Given the description of an element on the screen output the (x, y) to click on. 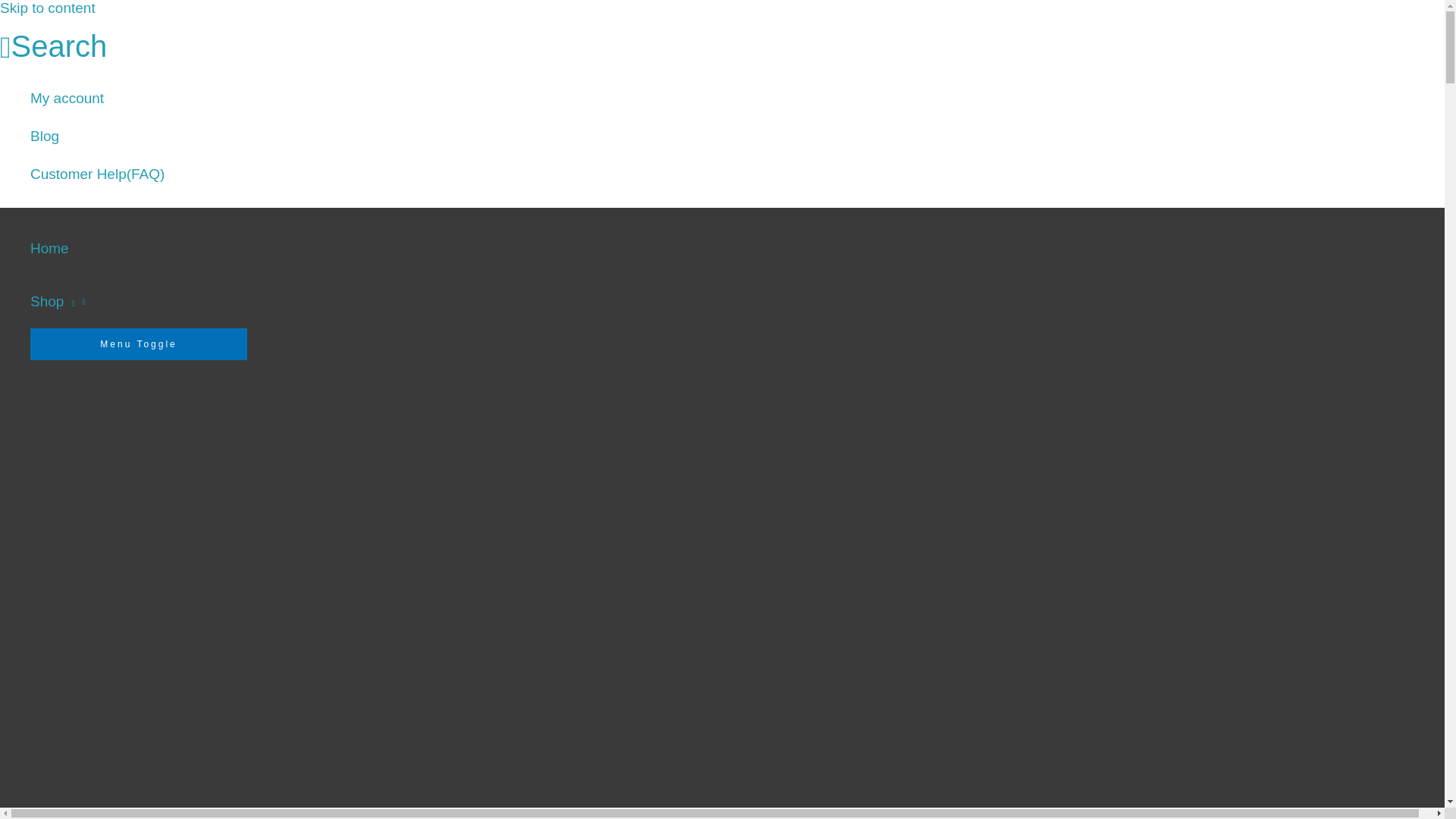
My account (97, 98)
Search (53, 47)
Home (138, 248)
Menu Toggle (138, 344)
Skip to content (48, 7)
Skip to content (48, 7)
Blog (97, 136)
Shop (138, 301)
